Given the description of an element on the screen output the (x, y) to click on. 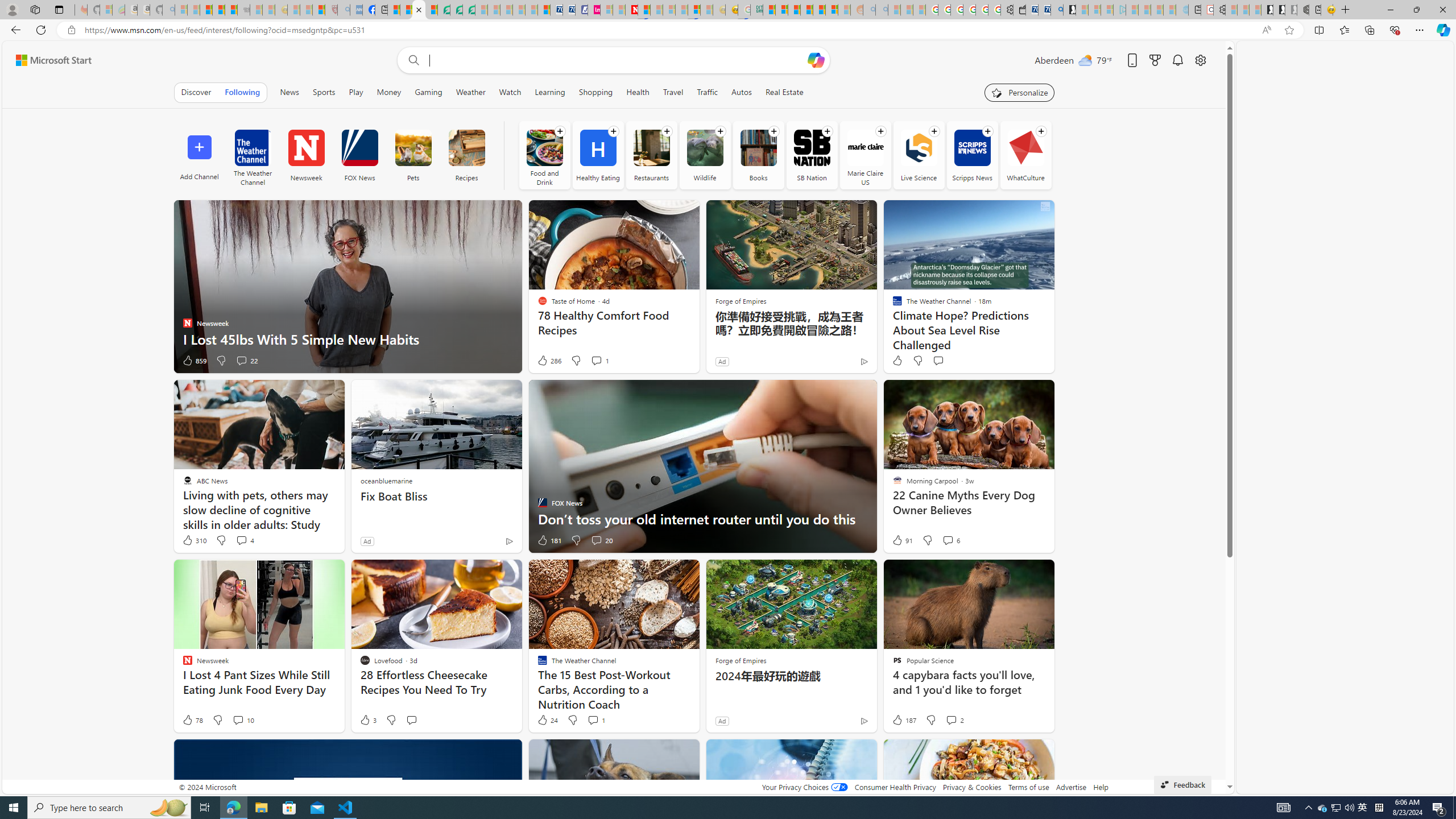
View comments 20 Comment (595, 540)
181 Like (548, 539)
The Weather Channel (252, 147)
859 Like (193, 360)
Wildlife (704, 155)
